Given the description of an element on the screen output the (x, y) to click on. 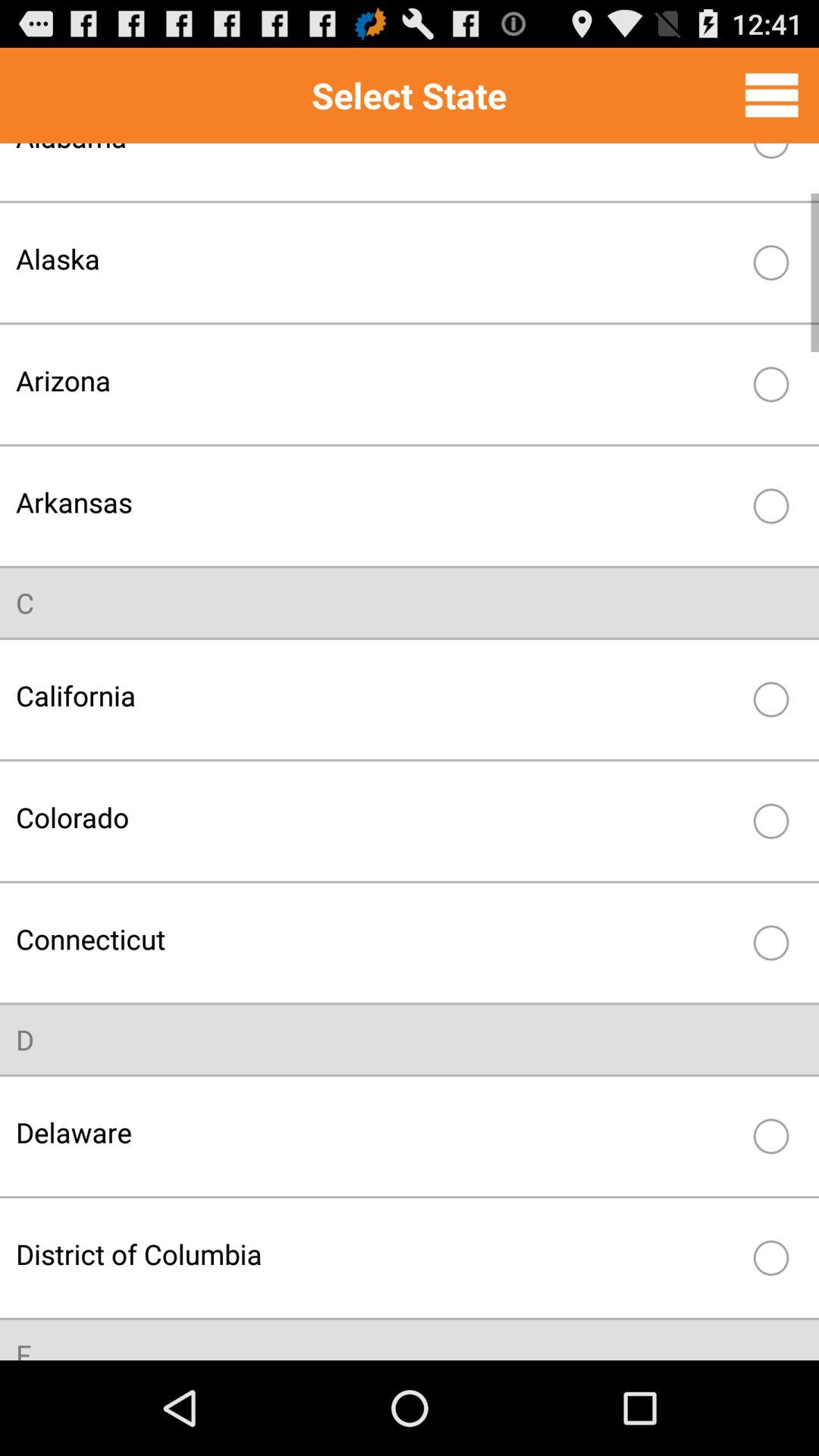
choose the item above the connecticut (377, 817)
